Given the description of an element on the screen output the (x, y) to click on. 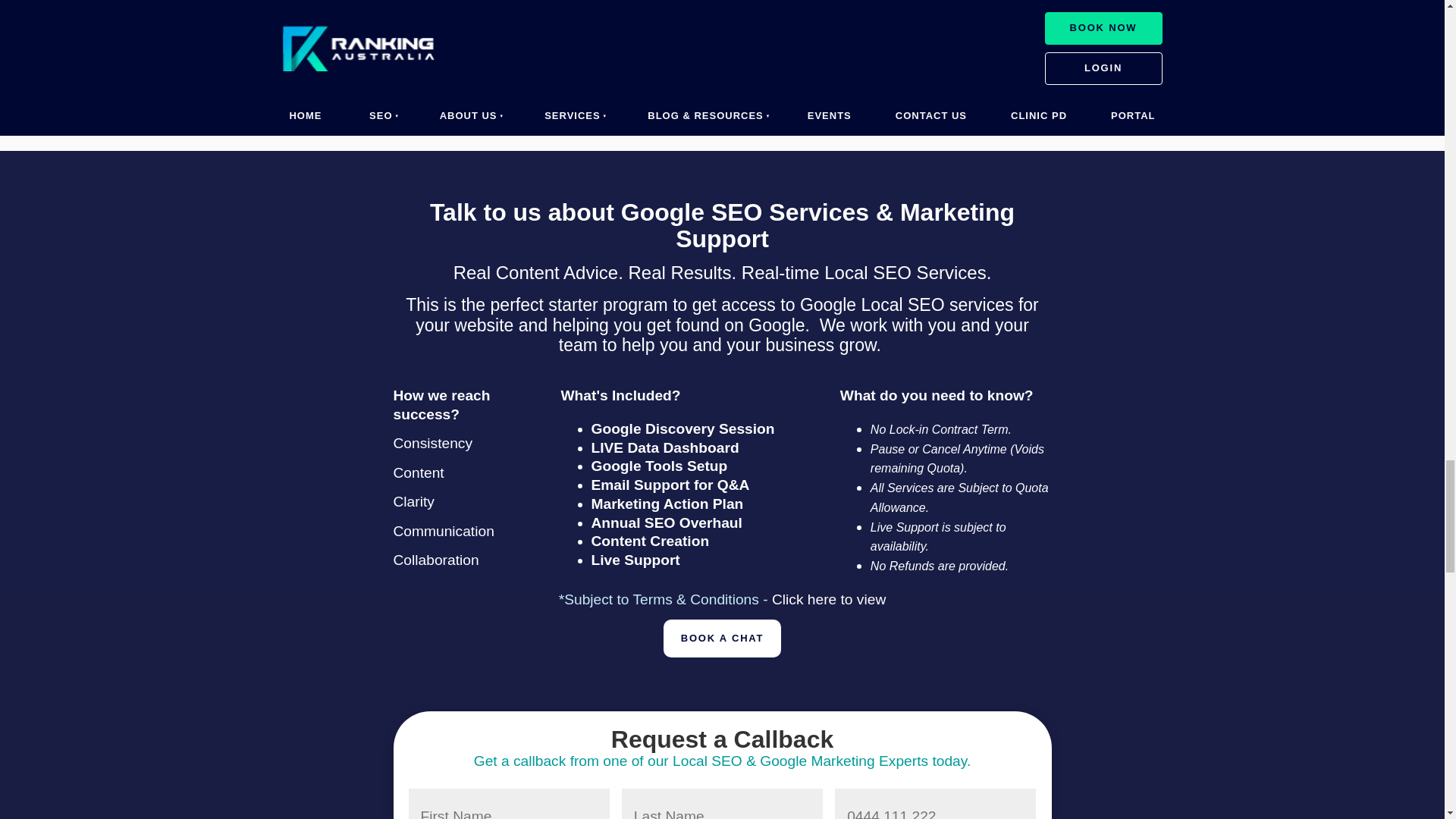
terms (828, 599)
Access Now (326, 25)
Book a Chat (721, 638)
